Given the description of an element on the screen output the (x, y) to click on. 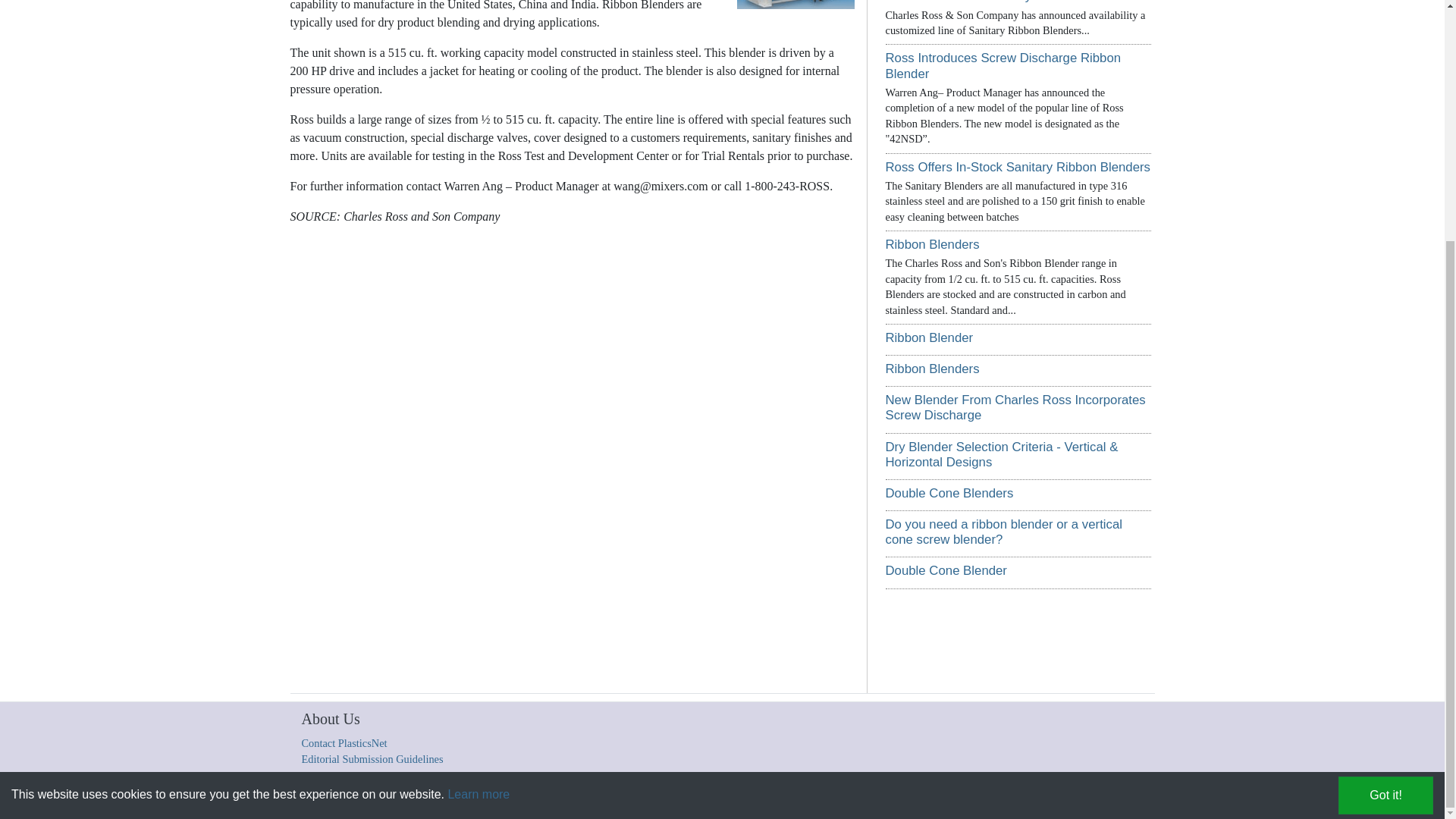
New Blender From Charles Ross Incorporates Screw Discharge (1015, 407)
Double Cone Blenders (949, 493)
Got it! (1385, 462)
Double Cone Blender (946, 570)
Ross Introduces Screw Discharge Ribbon Blender (1003, 65)
Don't sell my information (960, 798)
A-RB515.jpg (791, 4)
Ribbon Blenders (932, 244)
Editorial Submission Guidelines (372, 758)
VertMarkets, Inc. (561, 798)
Privacy Statement (770, 798)
Copyright (453, 798)
Subscriber Request Form (858, 798)
Ribbon Blender (929, 337)
Contact PlasticsNet (344, 743)
